Given the description of an element on the screen output the (x, y) to click on. 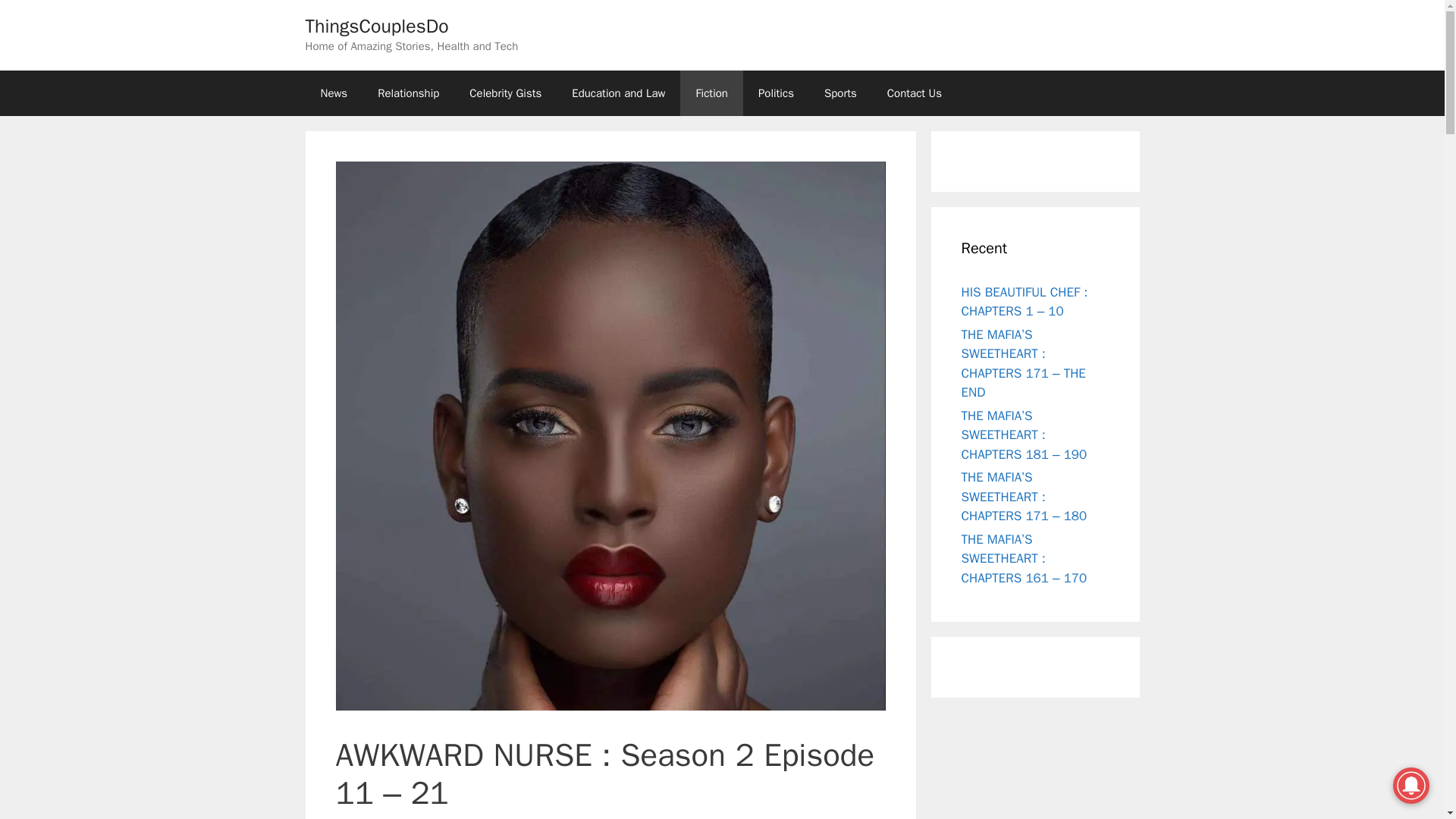
Relationship (408, 92)
Celebrity Gists (505, 92)
Contact Us (914, 92)
ThingsCouplesDo (376, 25)
News (333, 92)
Politics (775, 92)
Sports (840, 92)
Fiction (710, 92)
Education and Law (617, 92)
